Given the description of an element on the screen output the (x, y) to click on. 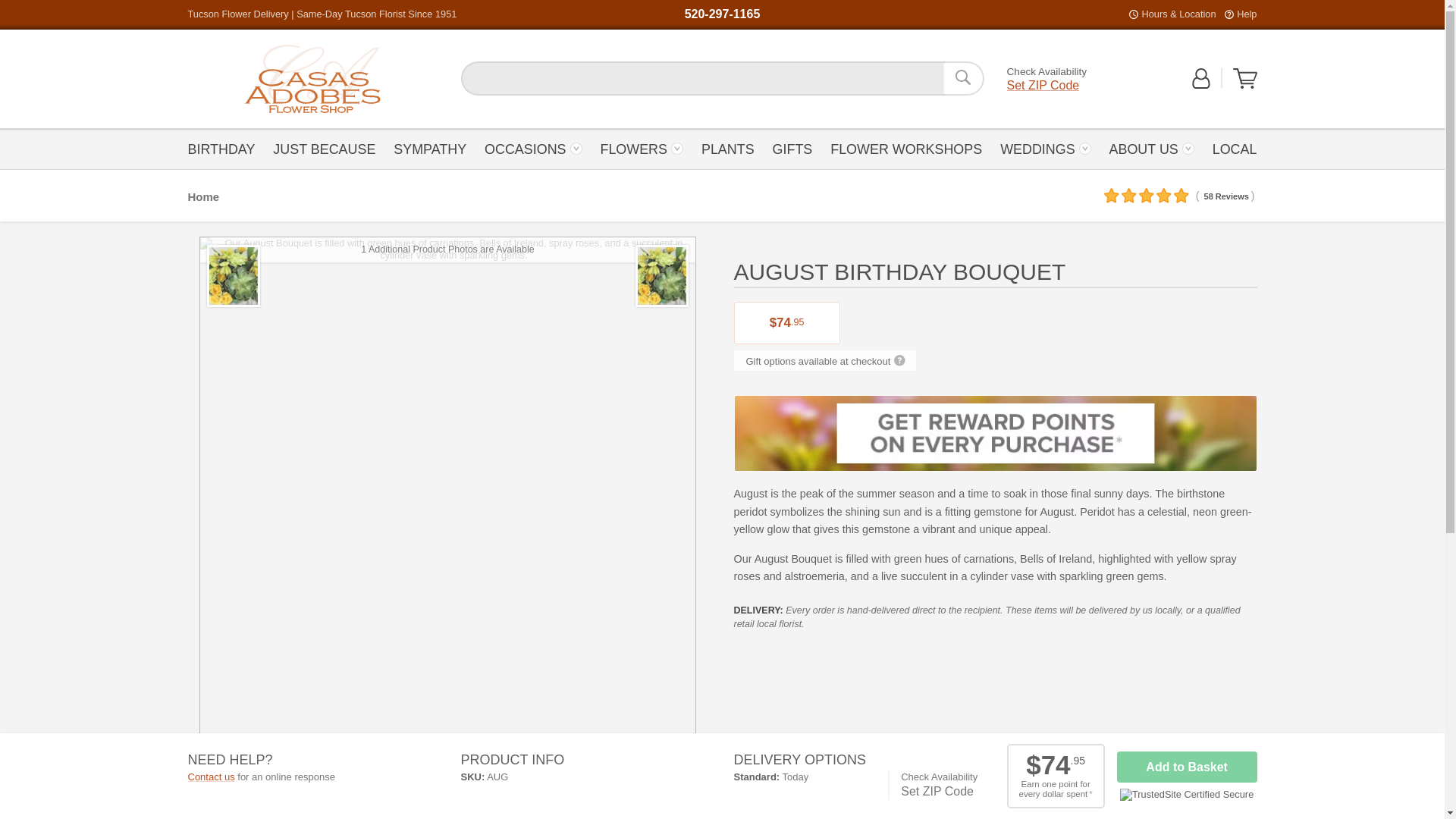
Set ZIP Code (1043, 85)
Casas Adobes Flower Shop Logo (312, 79)
Help (1246, 13)
OCCASIONS (533, 147)
View Your Shopping Cart (1245, 85)
SYMPATHY (429, 147)
Search (963, 78)
520-297-1165 (722, 13)
BIRTHDAY (225, 147)
Back to the Home Page (312, 79)
View Your Shopping Cart (1245, 78)
JUST BECAUSE (324, 147)
